Given the description of an element on the screen output the (x, y) to click on. 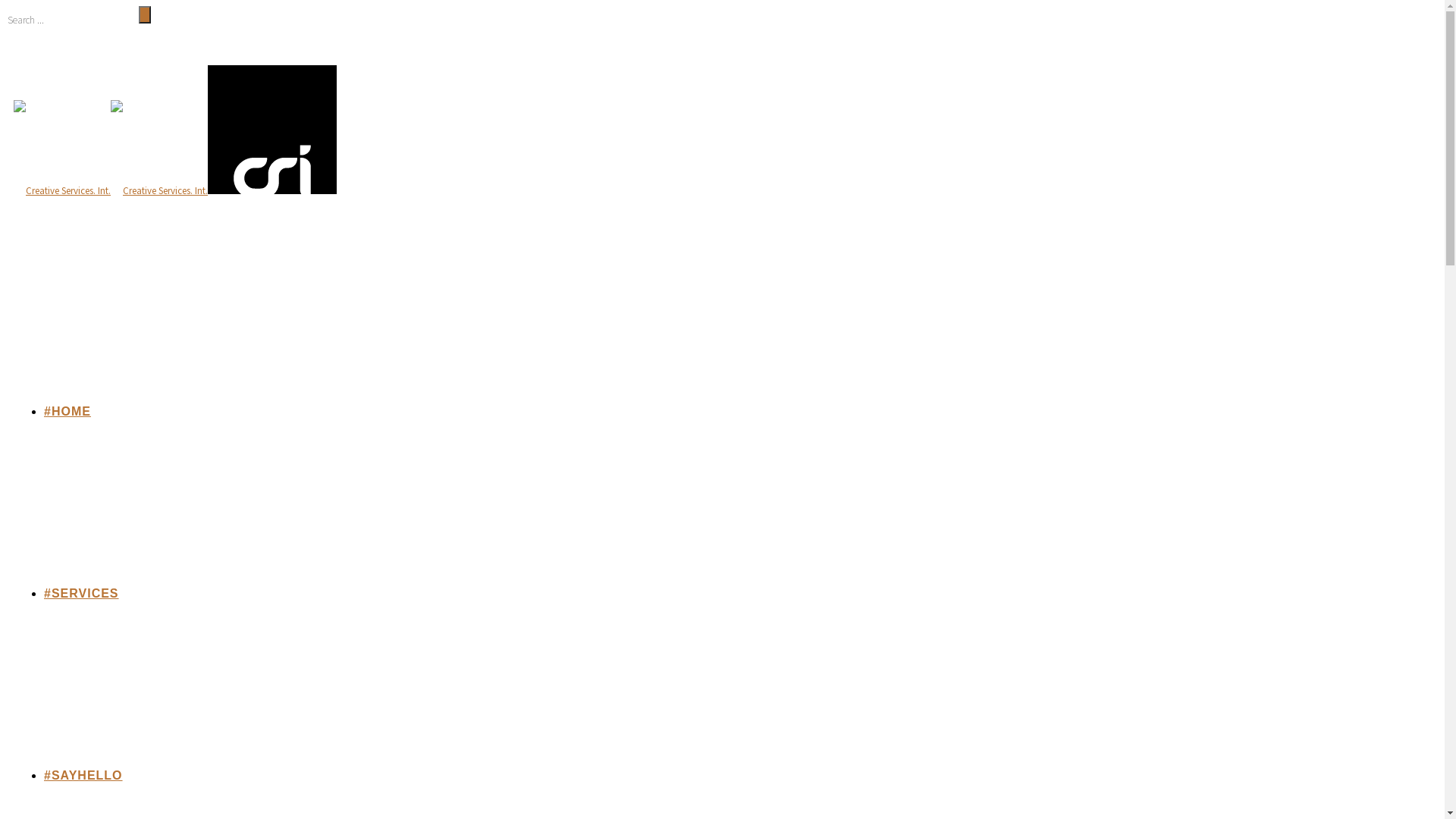
#HOME Element type: text (67, 410)
#SAYHELLO Element type: text (82, 774)
#SERVICES Element type: text (81, 592)
